Given the description of an element on the screen output the (x, y) to click on. 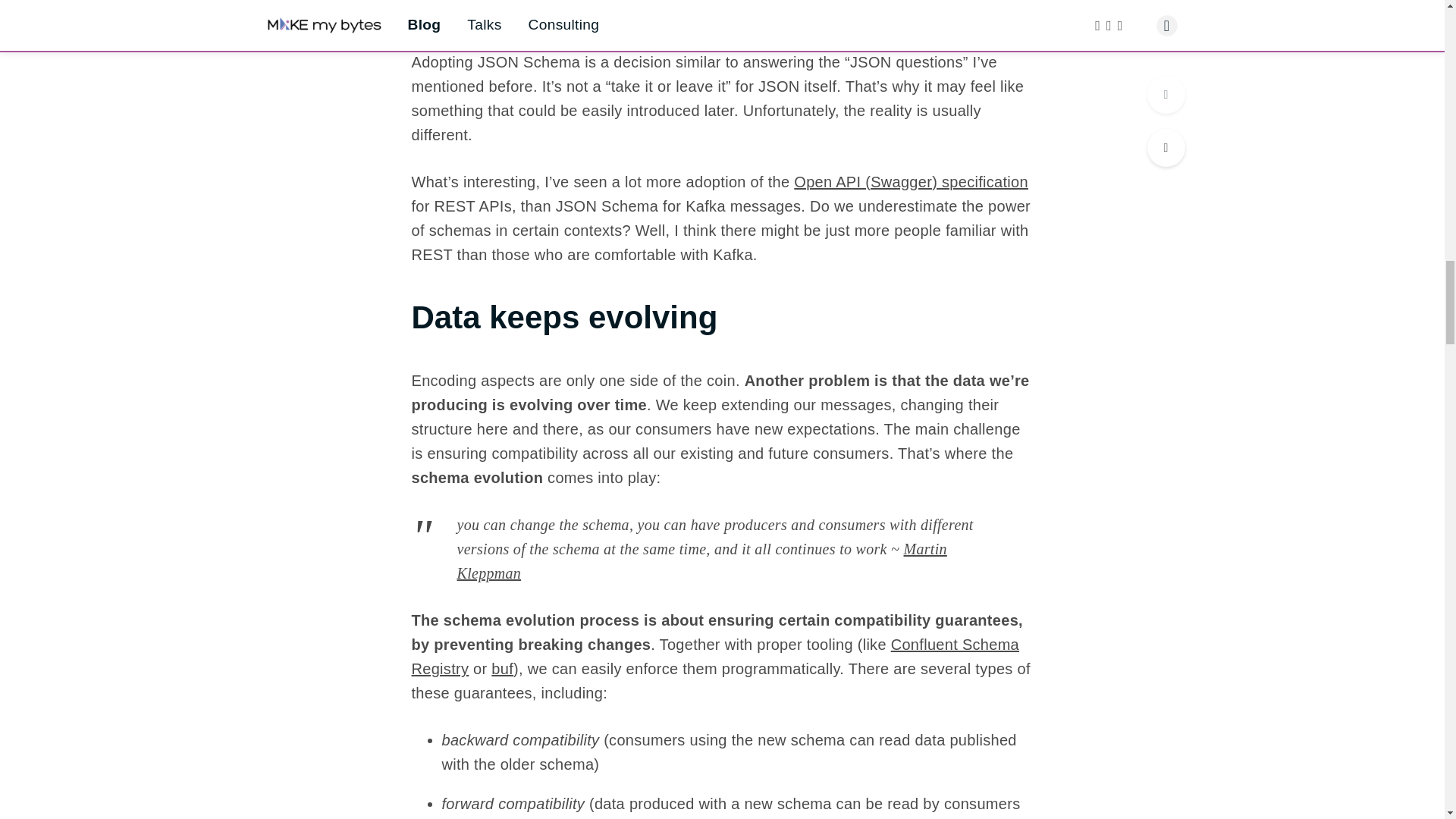
Martin Kleppman (701, 560)
buf (502, 668)
Confluent Schema Registry (714, 656)
